Given the description of an element on the screen output the (x, y) to click on. 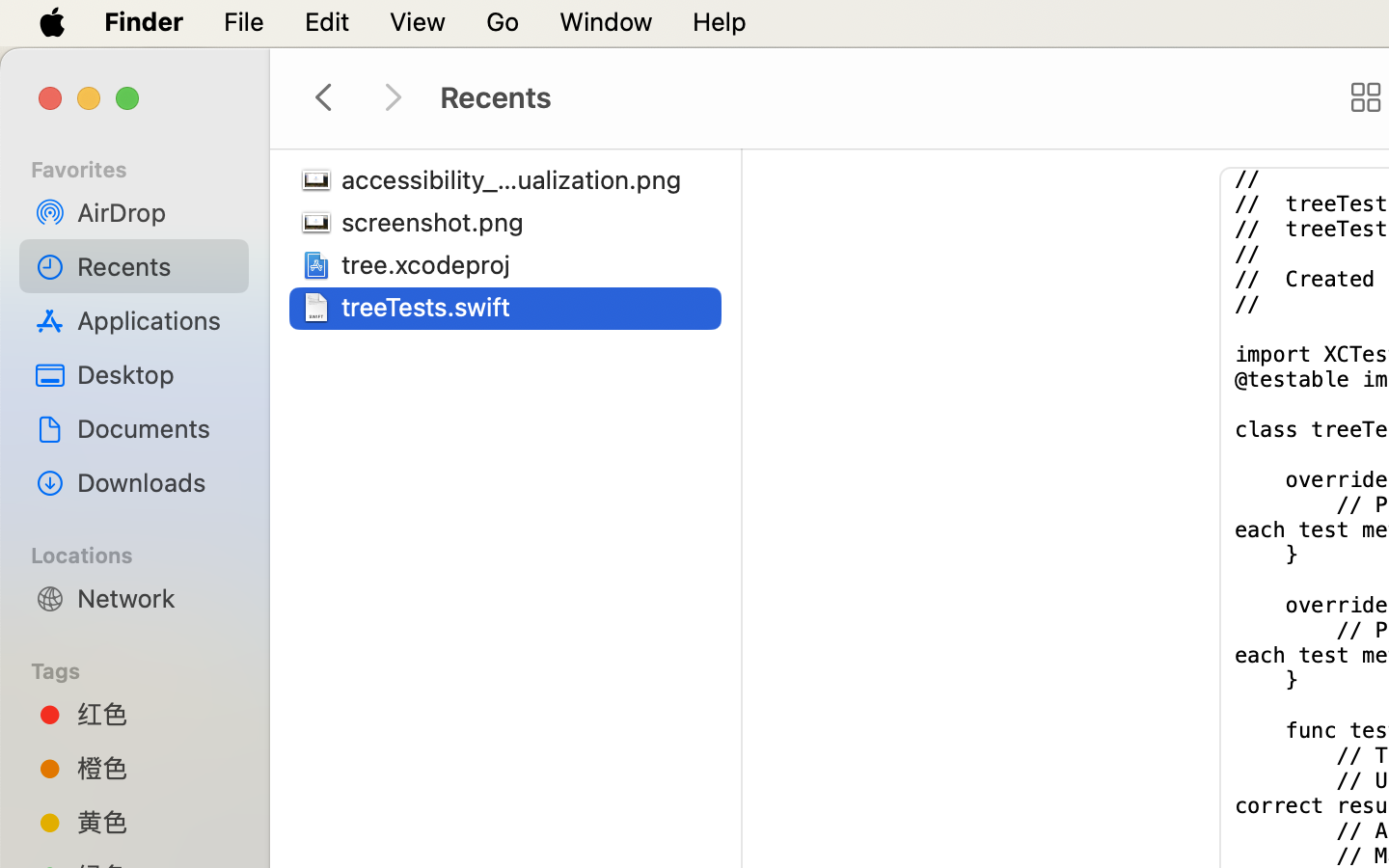
橙色 Element type: AXStaticText (155, 767)
accessibility_visualization.png Element type: AXTextField (516, 178)
AirDrop Element type: AXStaticText (155, 211)
Favorites Element type: AXStaticText (145, 166)
红色 Element type: AXStaticText (155, 713)
